Given the description of an element on the screen output the (x, y) to click on. 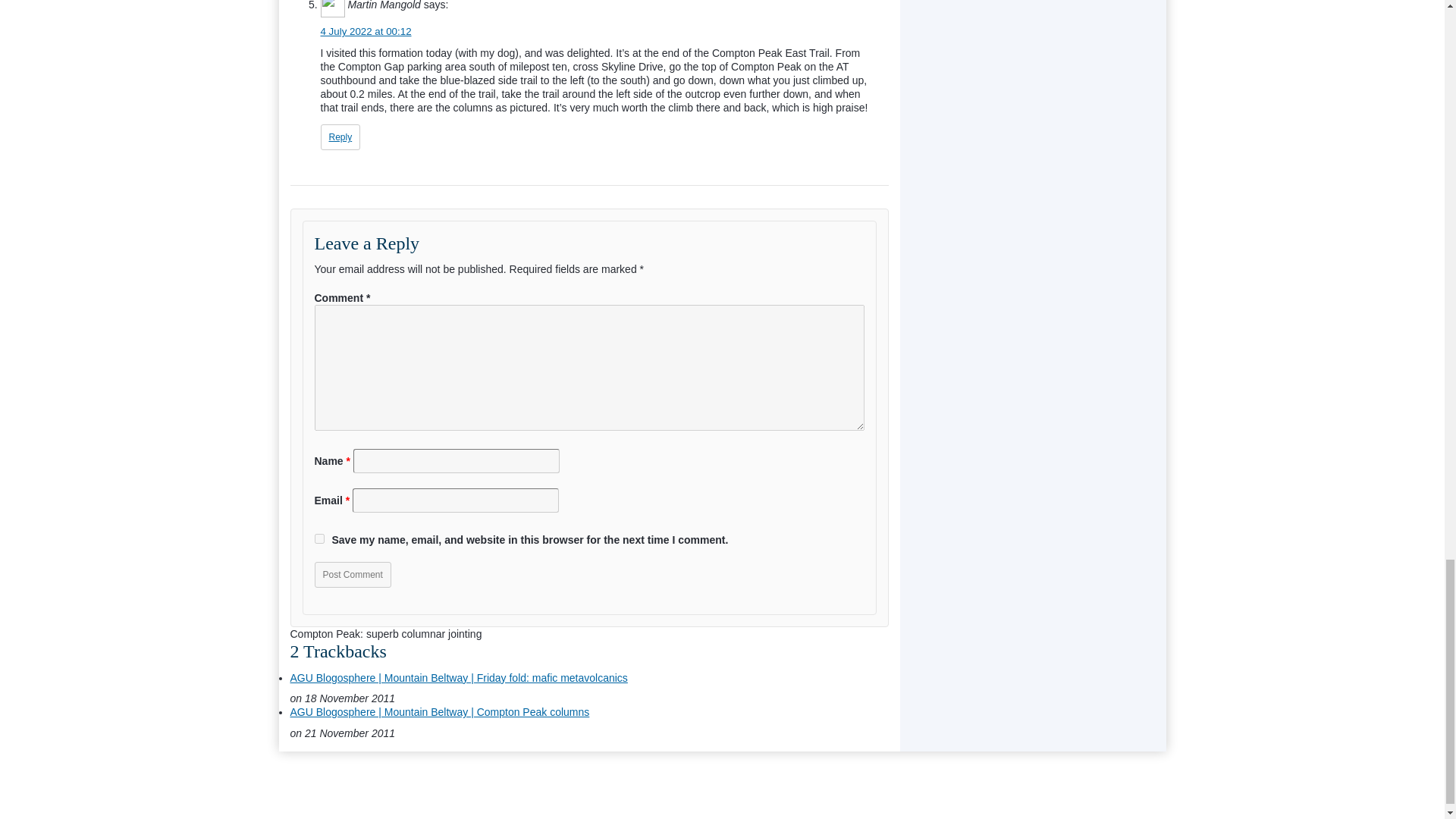
Post Comment (352, 574)
yes (318, 538)
4 July 2022 at 00:12 (365, 30)
Reply (339, 136)
